Given the description of an element on the screen output the (x, y) to click on. 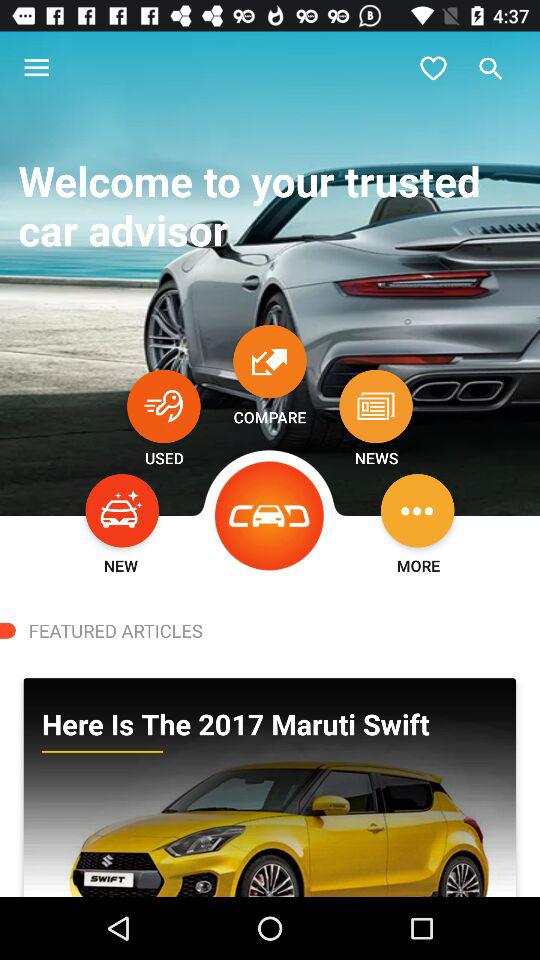
options (417, 510)
